Given the description of an element on the screen output the (x, y) to click on. 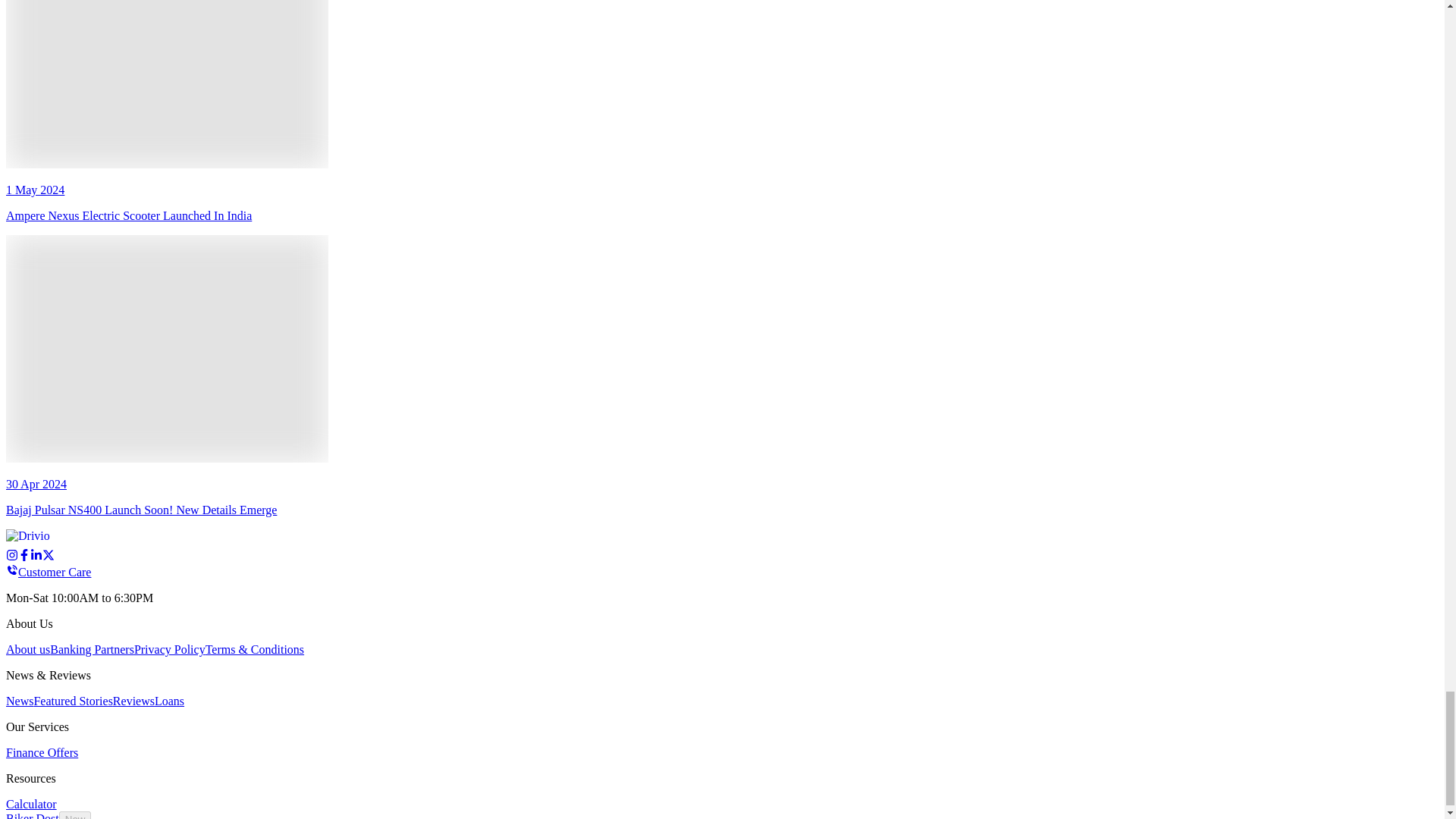
Ampere Nexus Electric Scooter Launched In India (167, 84)
Bajaj Pulsar NS400 Launch Soon! New Details Emerge (167, 348)
Drivio (46, 537)
